Given the description of an element on the screen output the (x, y) to click on. 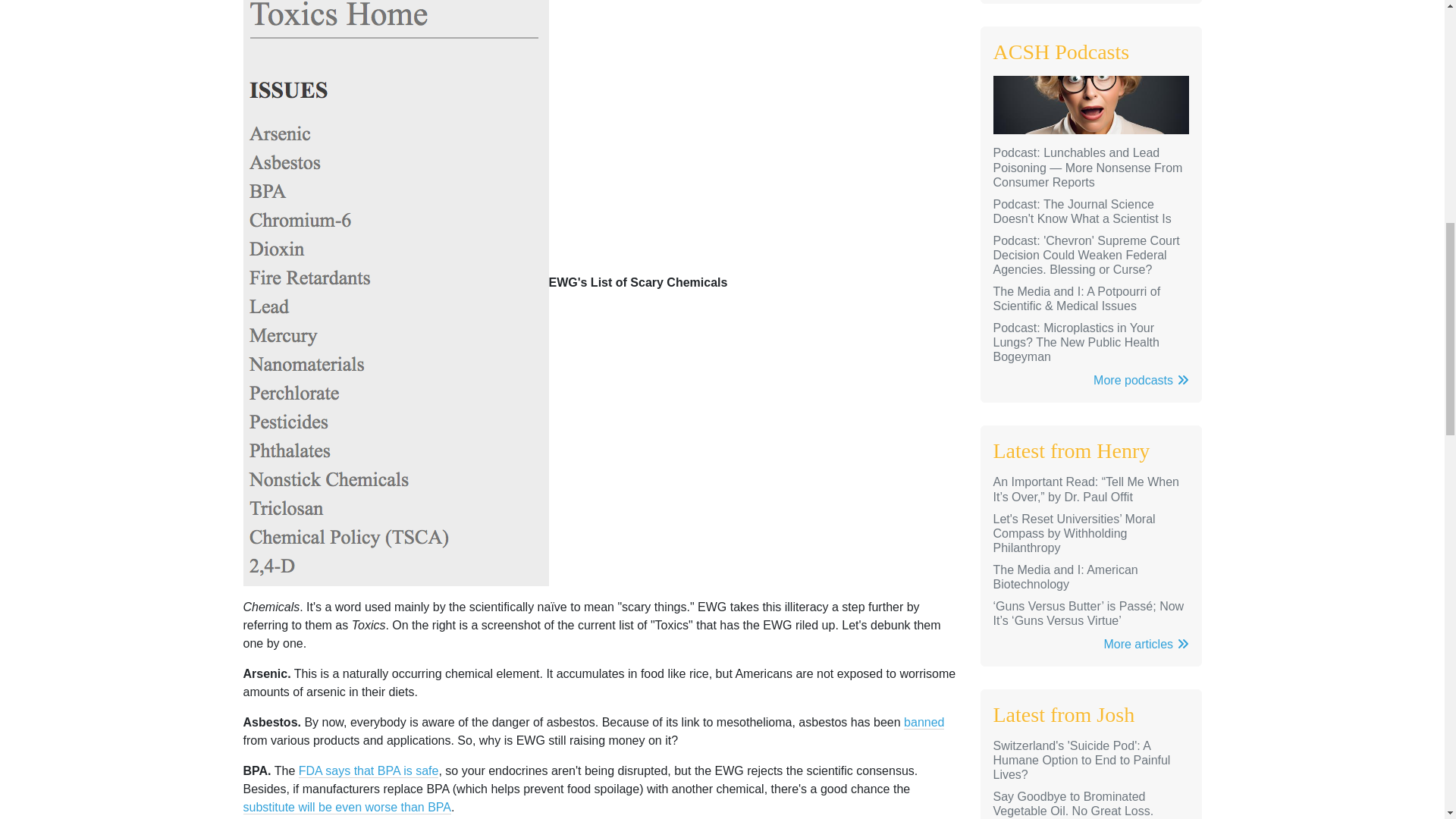
banned (923, 722)
substitute will be even worse than BPA (347, 807)
FDA says that BPA is safe (368, 771)
